Given the description of an element on the screen output the (x, y) to click on. 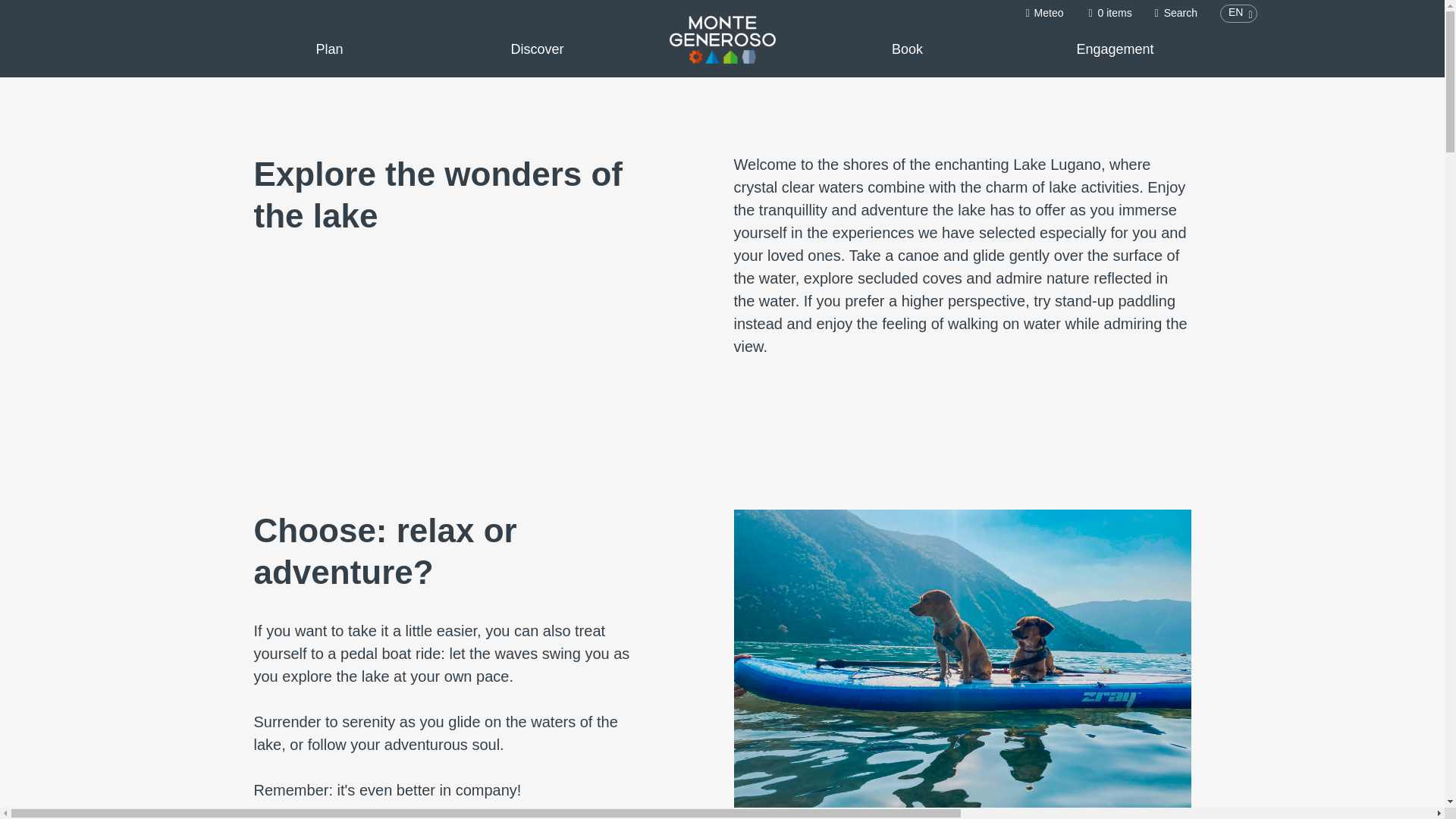
Events (1142, 36)
Camping (1064, 36)
EN (1238, 13)
Discover (537, 49)
Plots (470, 85)
Winter fares (1071, 36)
Gift card (980, 36)
0 items (1109, 12)
Winter fares (1071, 36)
Book your ticket (920, 92)
